Given the description of an element on the screen output the (x, y) to click on. 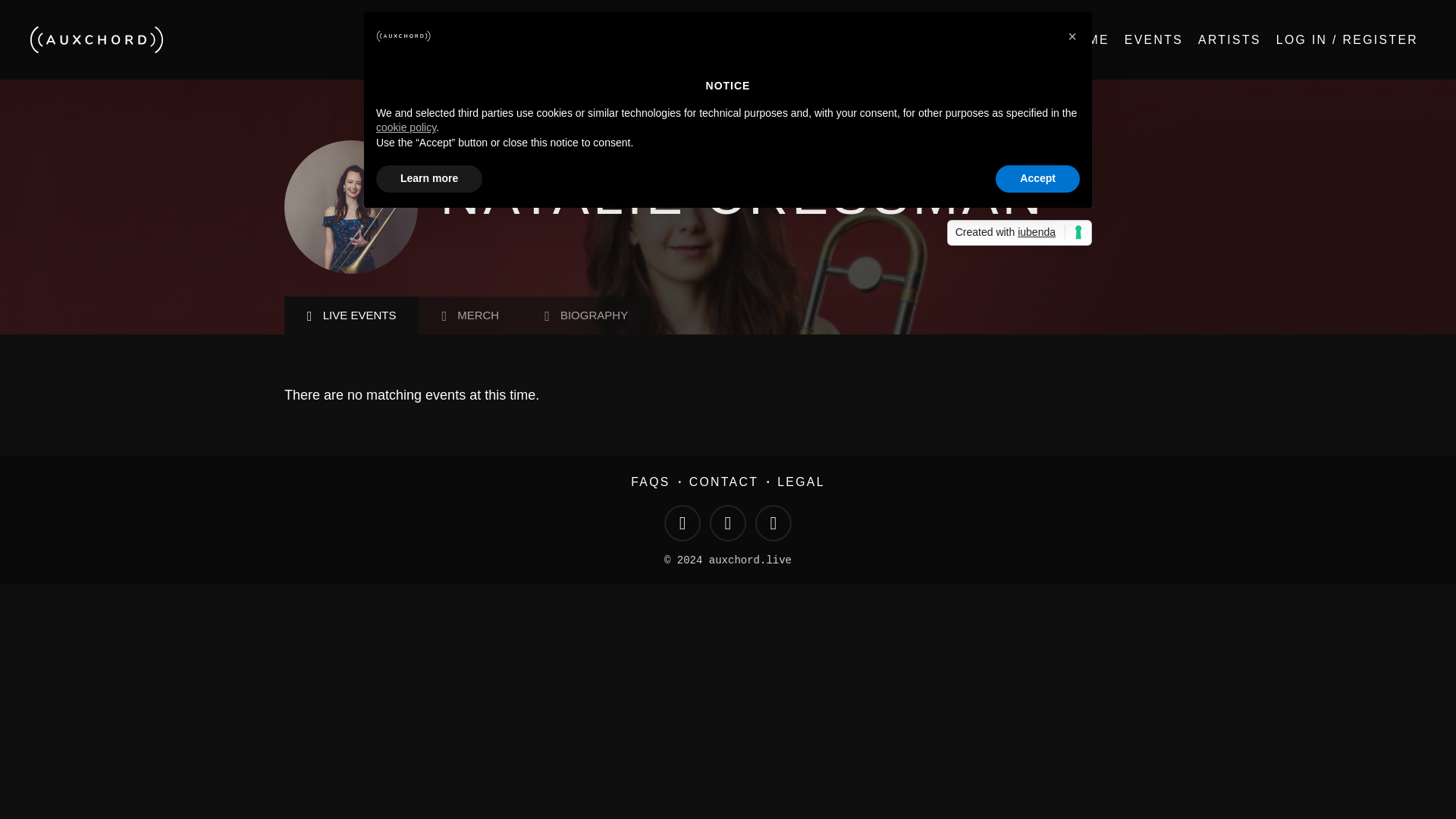
FAQS (649, 482)
CONTACT (723, 482)
Created with iubenda (1019, 232)
EVENTS (1153, 39)
Learn more (428, 178)
LEGAL (801, 482)
ARTISTS (1229, 39)
Accept (1037, 178)
HOME (1087, 39)
iubenda - Cookie Policy and Cookie Compliance Management (1019, 232)
cookie policy (405, 127)
